Given the description of an element on the screen output the (x, y) to click on. 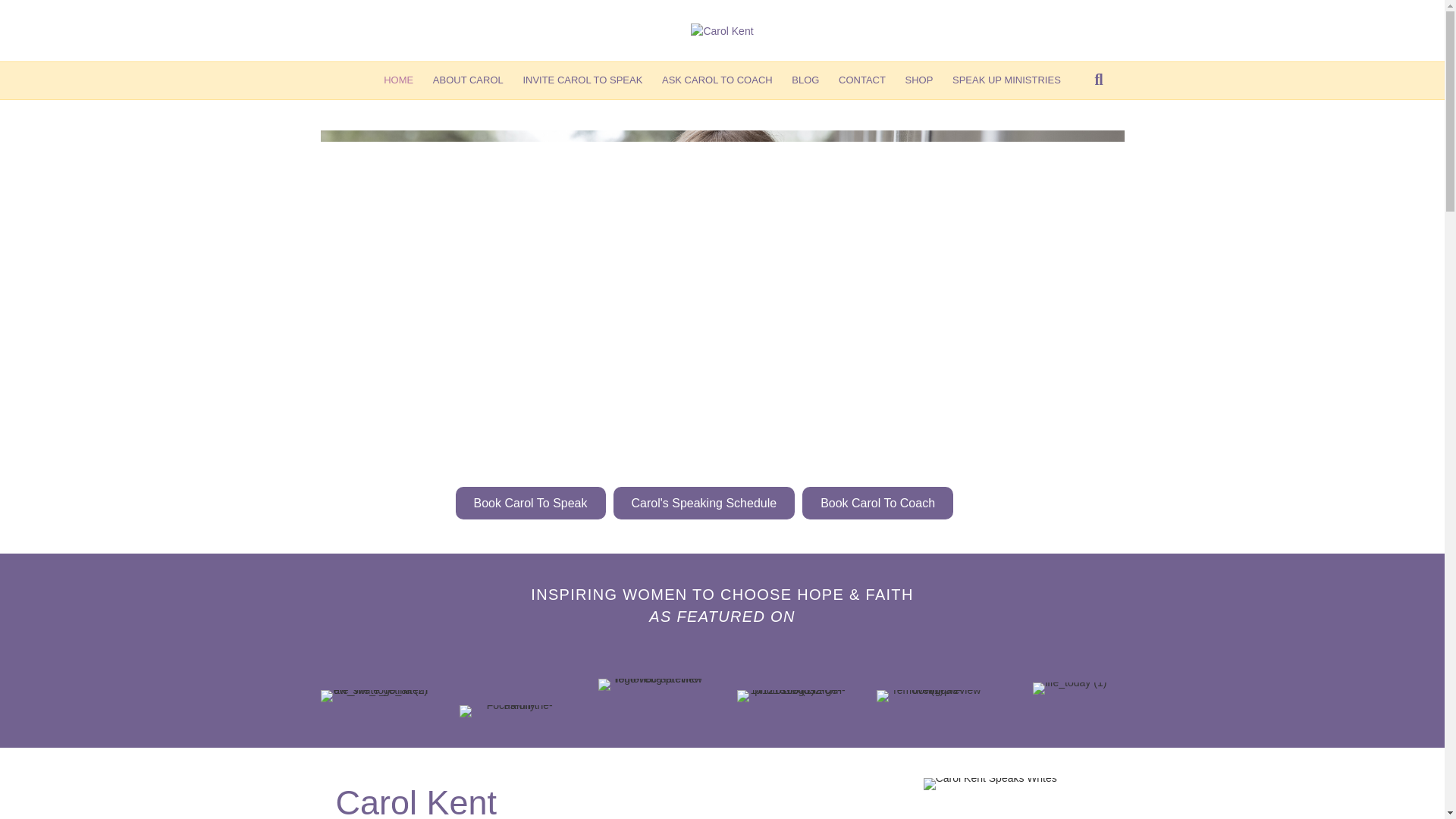
logo-nbc-dateline-removebg-preview (652, 684)
ASK CAROL TO COACH (716, 80)
Focus-on-the-Family (513, 711)
Book Carol To Coach (877, 502)
HOME (398, 80)
SPEAK UP MINISTRIES (1005, 80)
Carol'S Speaking Schedule (703, 502)
INVITE CAROL TO SPEAK (581, 80)
SHOP (919, 80)
Book Carol To Speak (529, 502)
